Given the description of an element on the screen output the (x, y) to click on. 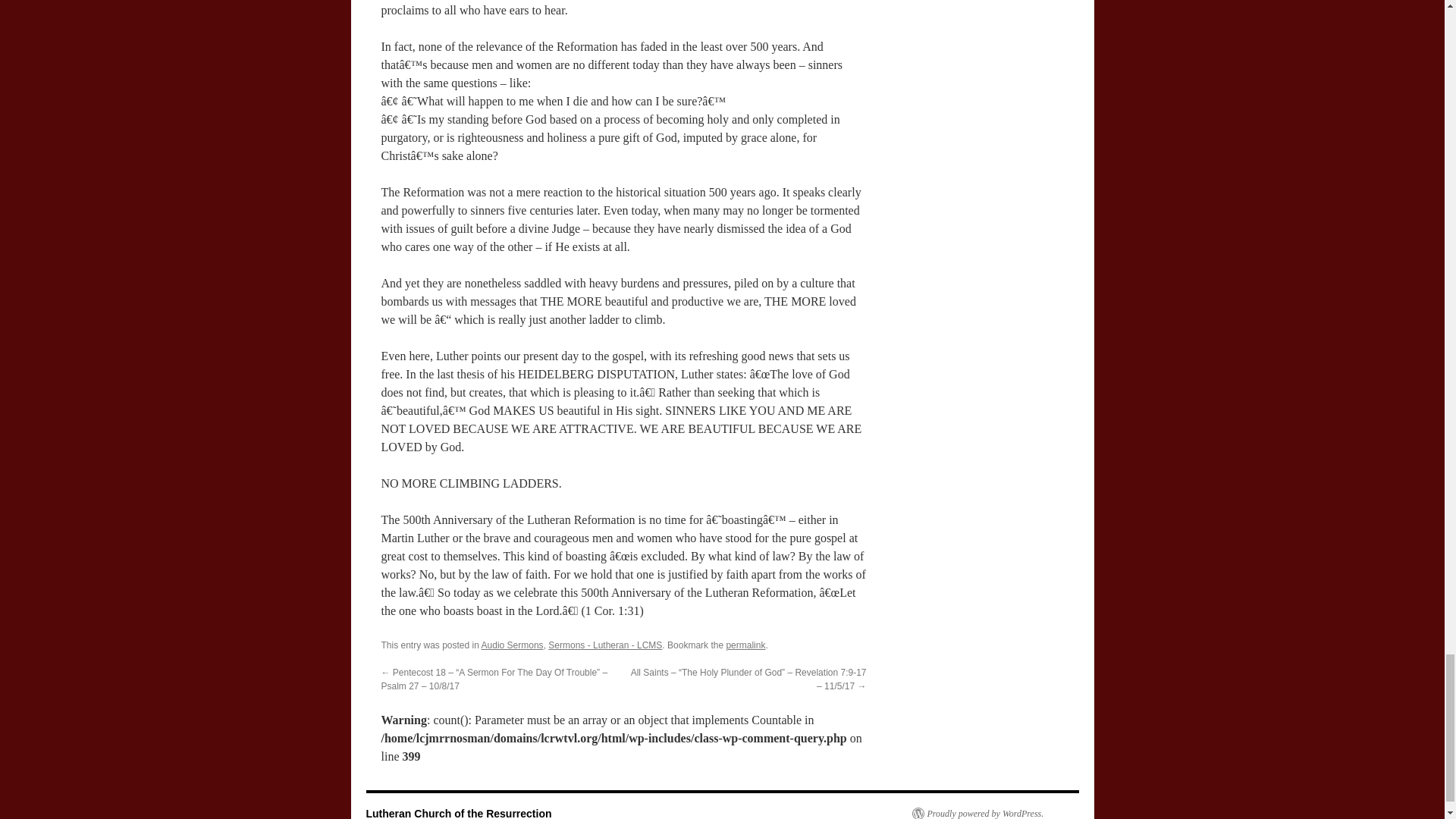
Audio Sermons (512, 644)
Sermons - Lutheran - LCMS (605, 644)
permalink (745, 644)
